Given the description of an element on the screen output the (x, y) to click on. 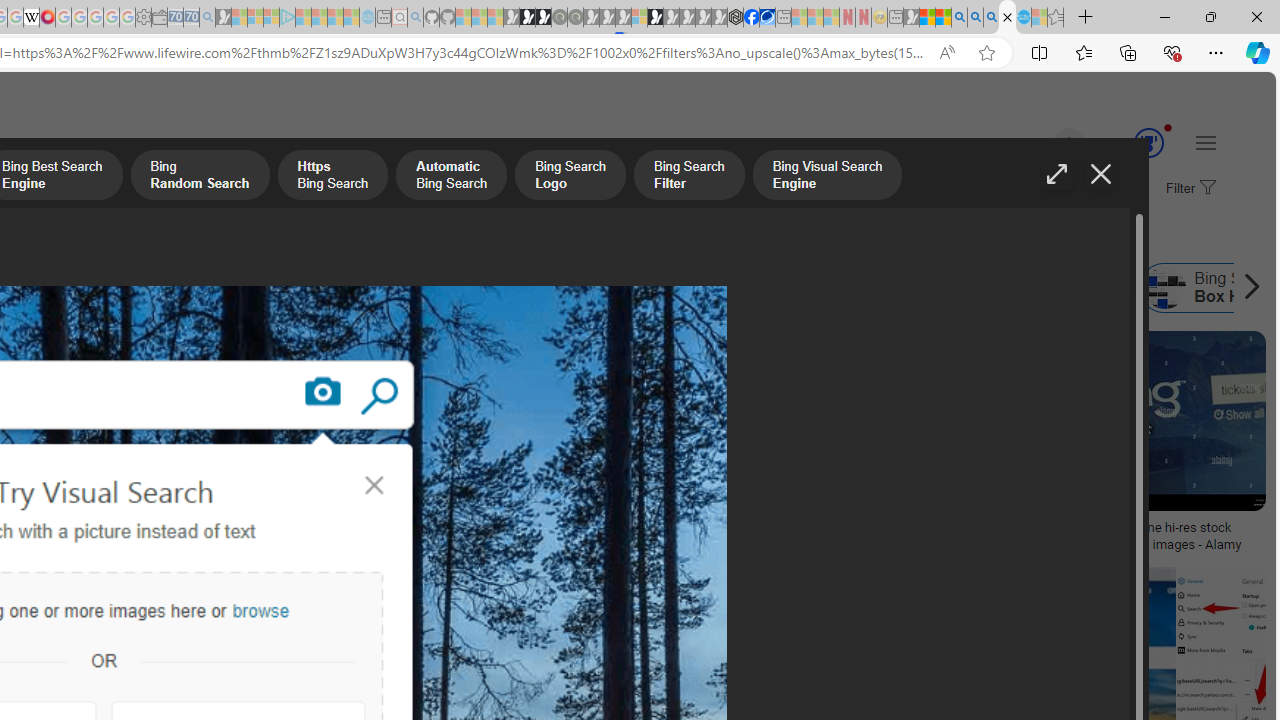
Hoodies (132, 460)
Image result for Bing Search Site (1154, 421)
T-Shirts (132, 400)
Bing Random Search (200, 177)
Old Bing (319, 287)
